Given the description of an element on the screen output the (x, y) to click on. 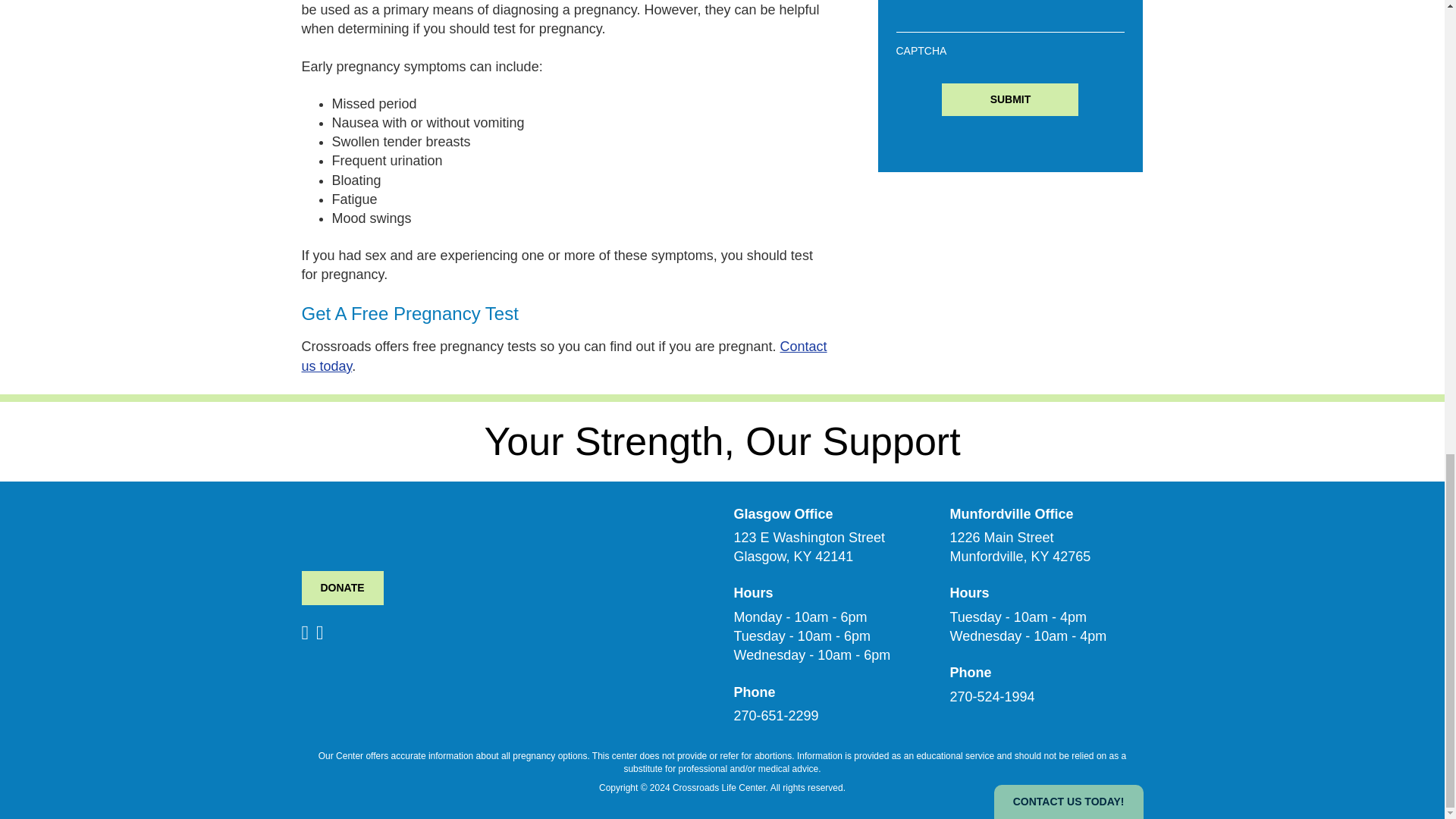
270-651-2299 (775, 715)
DONATE (342, 587)
Submit (1010, 100)
270-524-1994 (991, 696)
Contact us today (564, 356)
Submit (1010, 100)
